Given the description of an element on the screen output the (x, y) to click on. 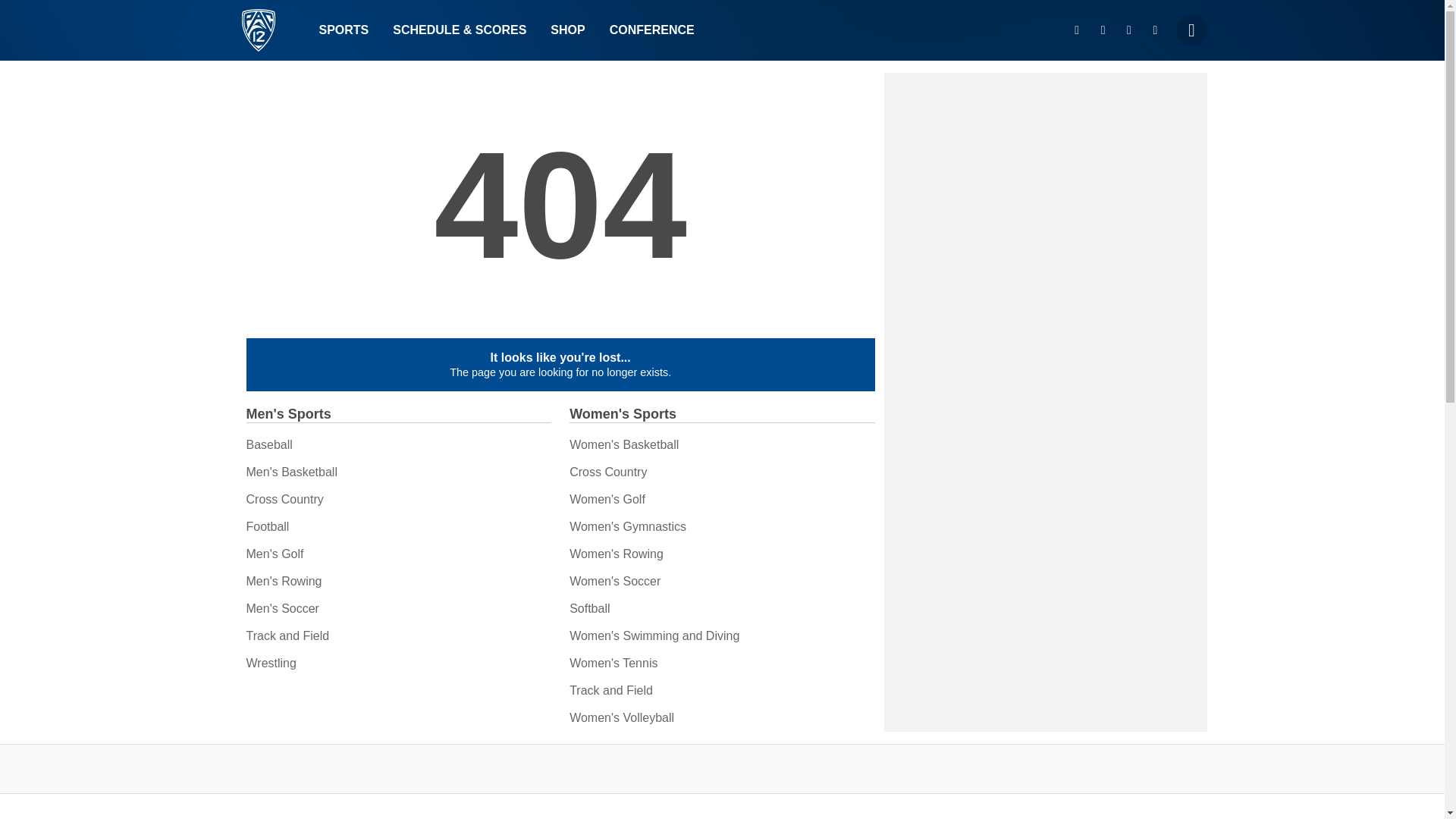
Instagram (1076, 29)
SHOP (567, 30)
Facebook (1129, 29)
SPORTS (342, 30)
Twitter (1102, 29)
TikTok (1155, 29)
CONFERENCE (651, 30)
